Given the description of an element on the screen output the (x, y) to click on. 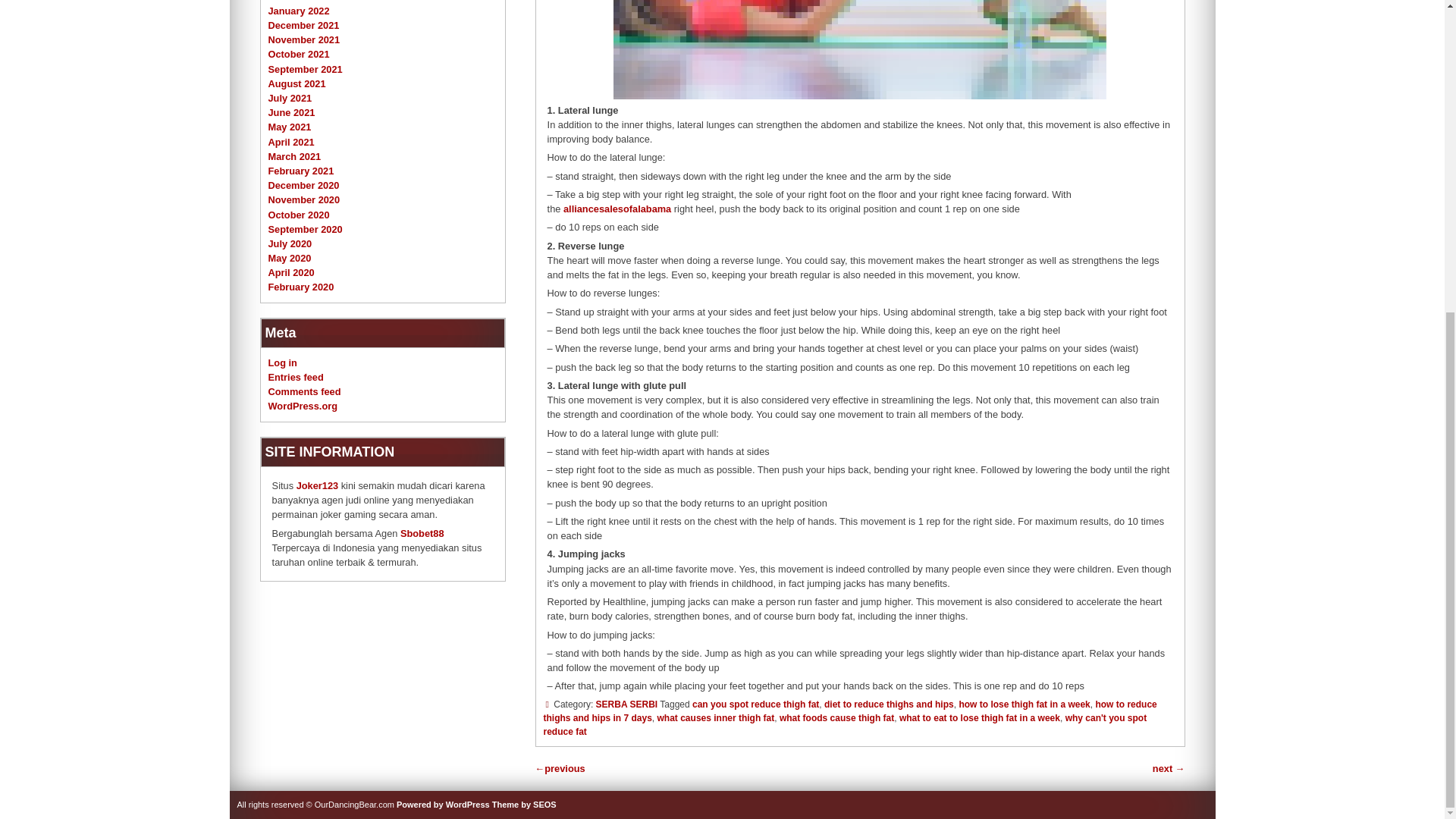
August 2021 (296, 83)
October 2021 (298, 53)
what to eat to lose thigh fat in a week (979, 717)
why can't you spot reduce fat (845, 724)
diet to reduce thighs and hips (888, 704)
can you spot reduce thigh fat (755, 704)
Seos free wordpress themes (524, 804)
how to reduce thighs and hips in 7 days (849, 711)
what foods cause thigh fat (835, 717)
what causes inner thigh fat (716, 717)
alliancesalesofalabama (617, 208)
November 2021 (303, 39)
SERBA SERBI (626, 704)
how to lose thigh fat in a week (1023, 704)
March 2022 (294, 1)
